Given the description of an element on the screen output the (x, y) to click on. 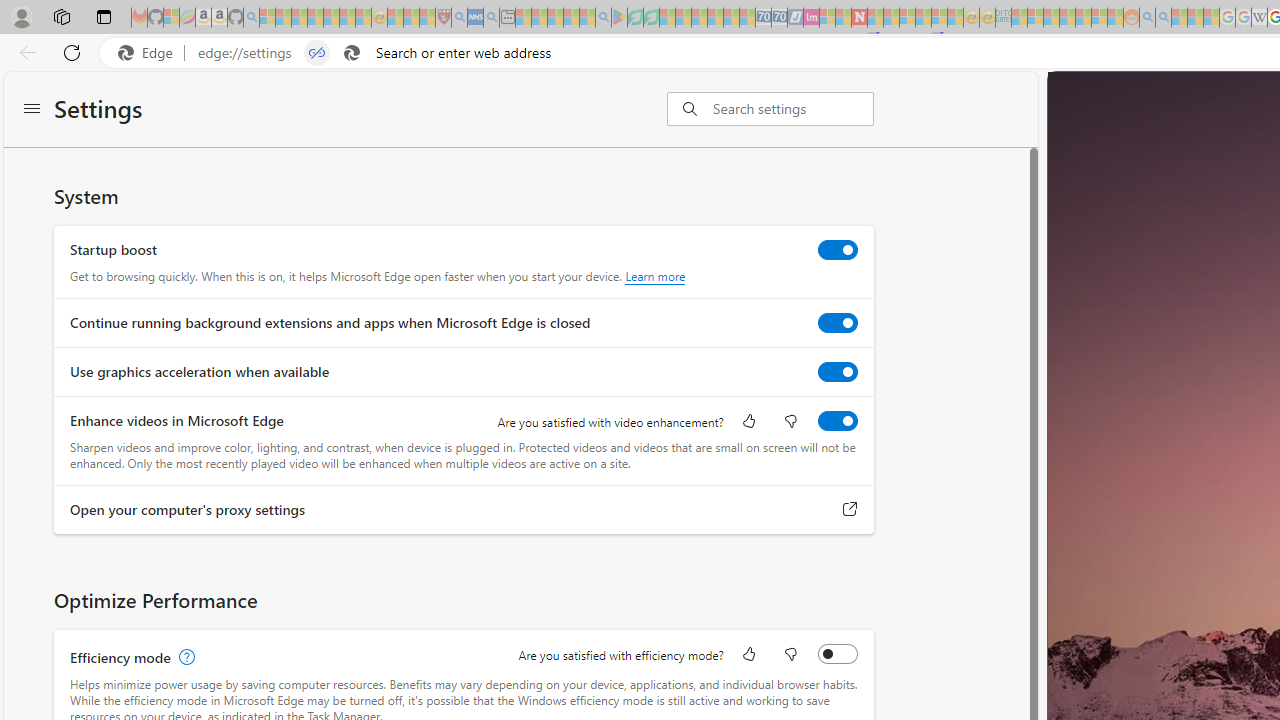
AZ Animals (US) (1140, 442)
475 Like (1155, 541)
